Given the description of an element on the screen output the (x, y) to click on. 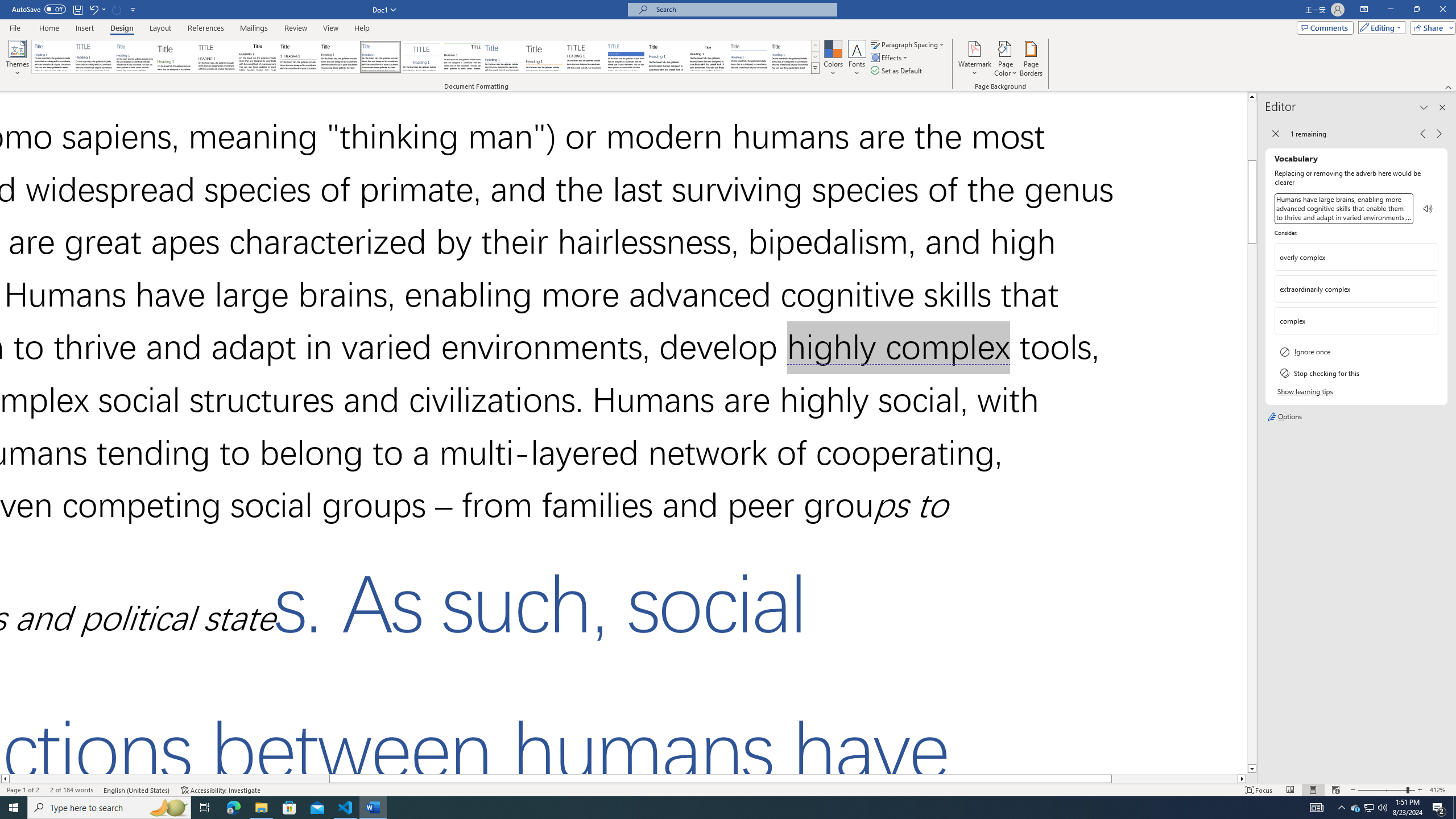
complex (1356, 320)
Next Issue, 1 remaining (1439, 133)
Read Mode (1290, 790)
AutomationID: DrillInPane_ReadContext (1428, 208)
Insert (83, 28)
Watermark (974, 58)
Paragraph Spacing (908, 44)
Ribbon Display Options (1364, 9)
Style Set (814, 67)
Share (1430, 27)
AutoSave (38, 9)
Accessibility Checker Accessibility: Investigate (220, 790)
Page Color (1005, 58)
Focus  (1258, 790)
Review (295, 28)
